Given the description of an element on the screen output the (x, y) to click on. 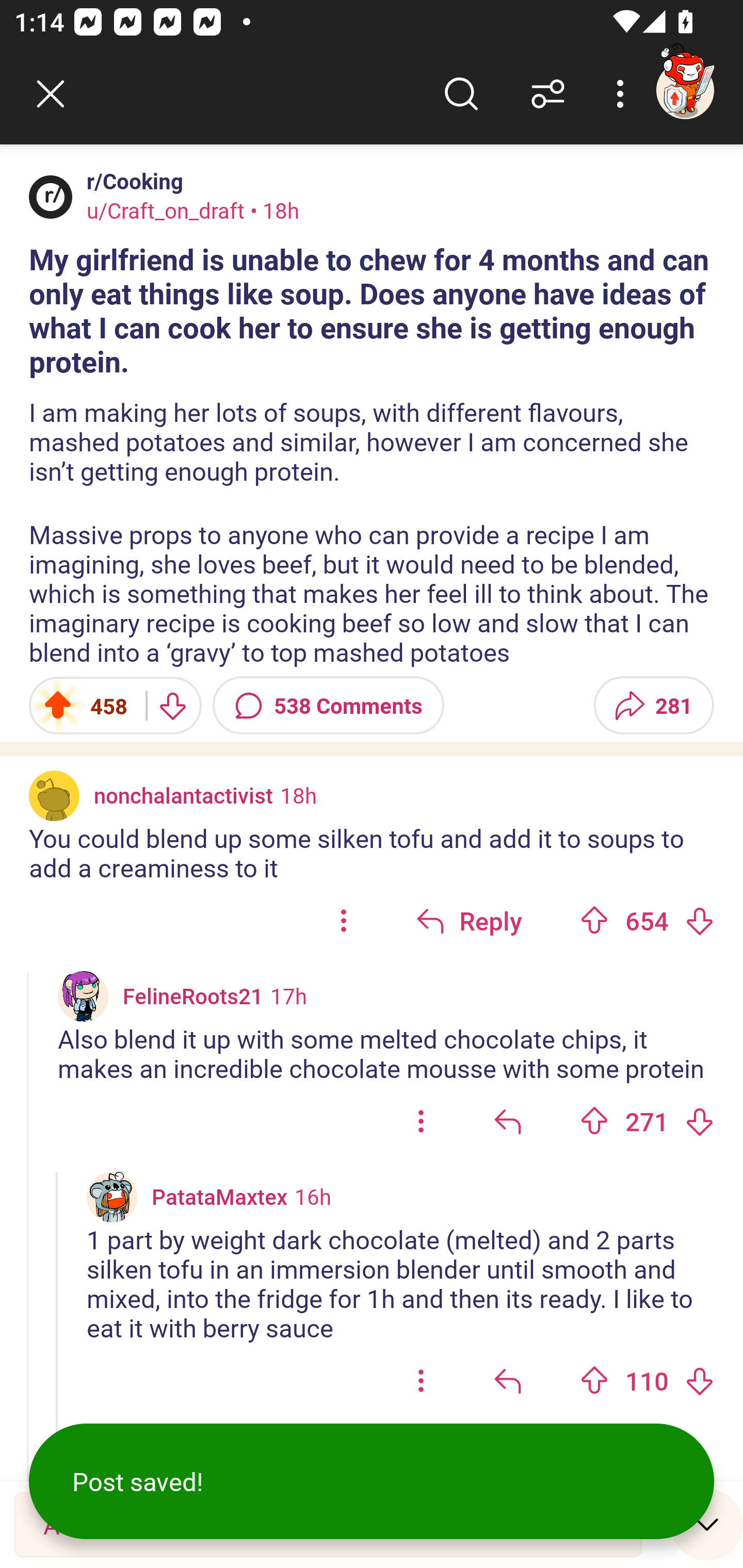
Back (50, 93)
TestAppium002 account (685, 90)
Search comments (460, 93)
Sort comments (547, 93)
More options (623, 93)
r/Cooking (131, 181)
Avatar (50, 196)
u/Craft_on_draft (165, 210)
Upvote 458 Downvote 538 Comments Share 281 (371, 705)
Downvote (171, 705)
538 Comments (328, 705)
Share 281 (653, 705)
Avatar (53, 795)
18h (298, 794)
options (343, 920)
Reply (469, 920)
Upvote 654 654 votes Downvote (647, 920)
Upvote (594, 920)
Downvote (699, 920)
Custom avatar (82, 996)
17h (288, 995)
options (420, 1121)
Upvote 271 271 votes Downvote (647, 1121)
Upvote (594, 1121)
Downvote (699, 1121)
Custom avatar (111, 1197)
16h (312, 1196)
options (420, 1381)
Upvote 110 110 votes Downvote (647, 1381)
Upvote (594, 1380)
Downvote (699, 1380)
